Given the description of an element on the screen output the (x, y) to click on. 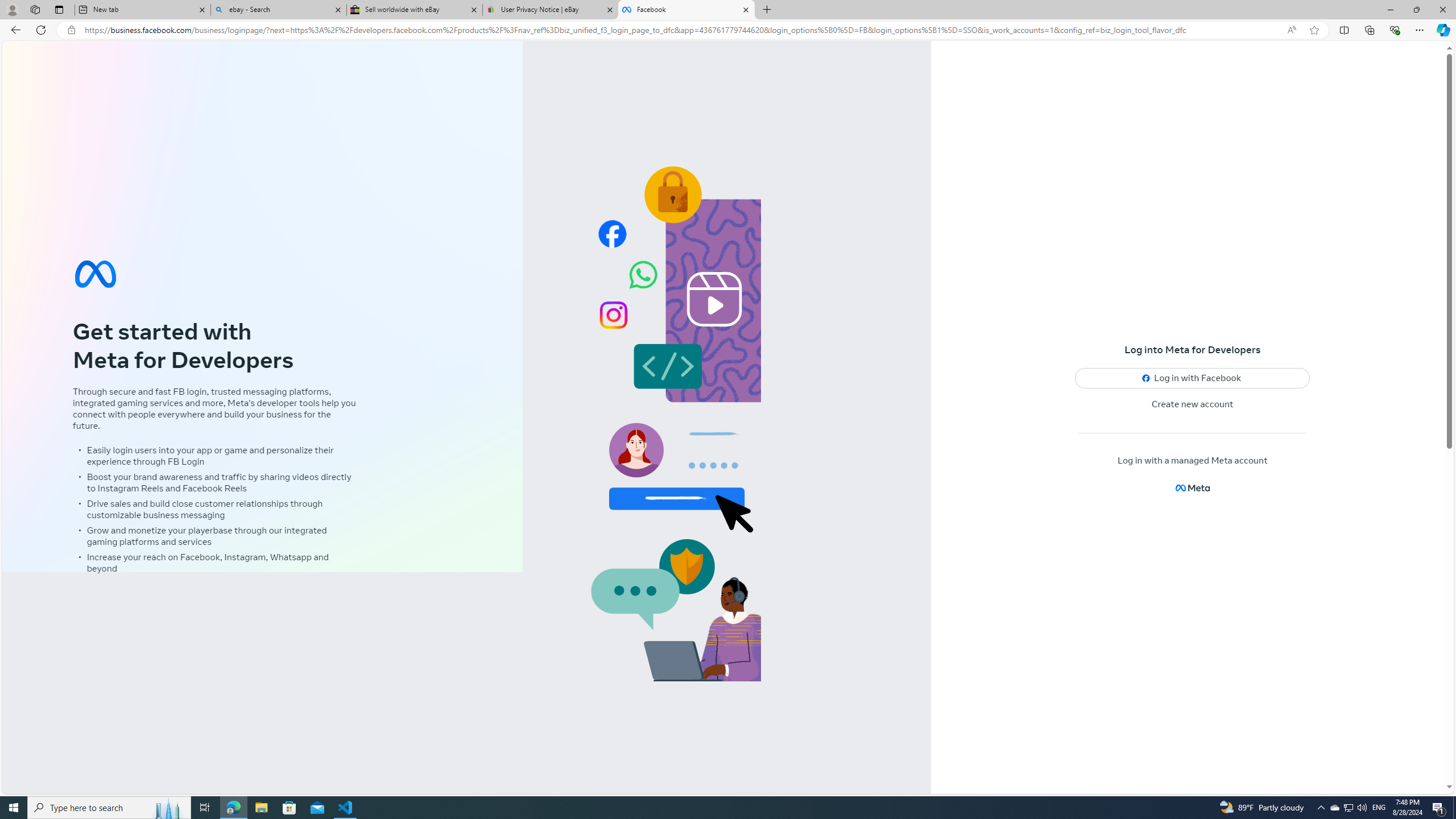
Log in with Facebook (1192, 378)
